Given the description of an element on the screen output the (x, y) to click on. 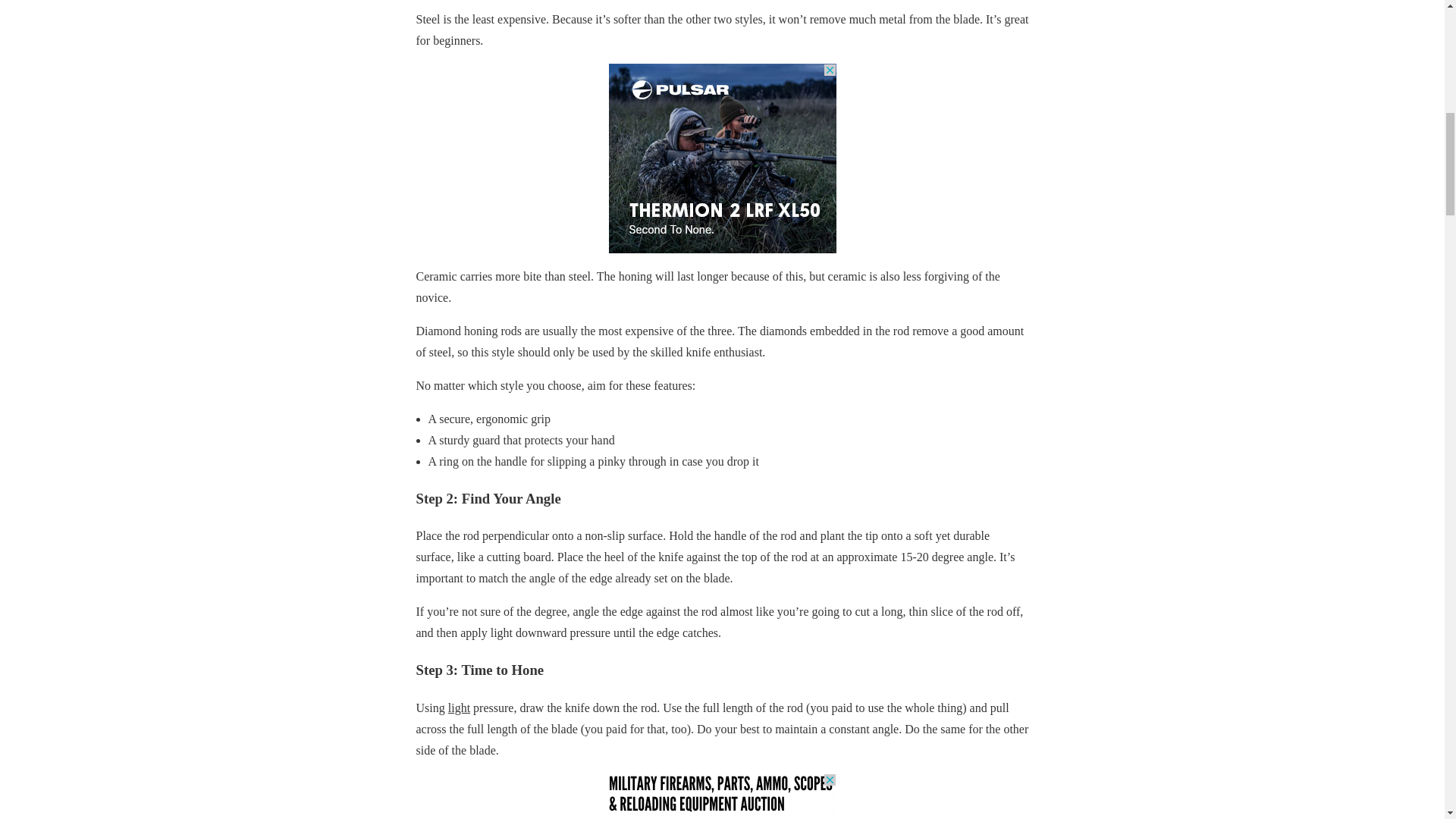
3rd party ad content (721, 158)
3rd party ad content (721, 796)
